Given the description of an element on the screen output the (x, y) to click on. 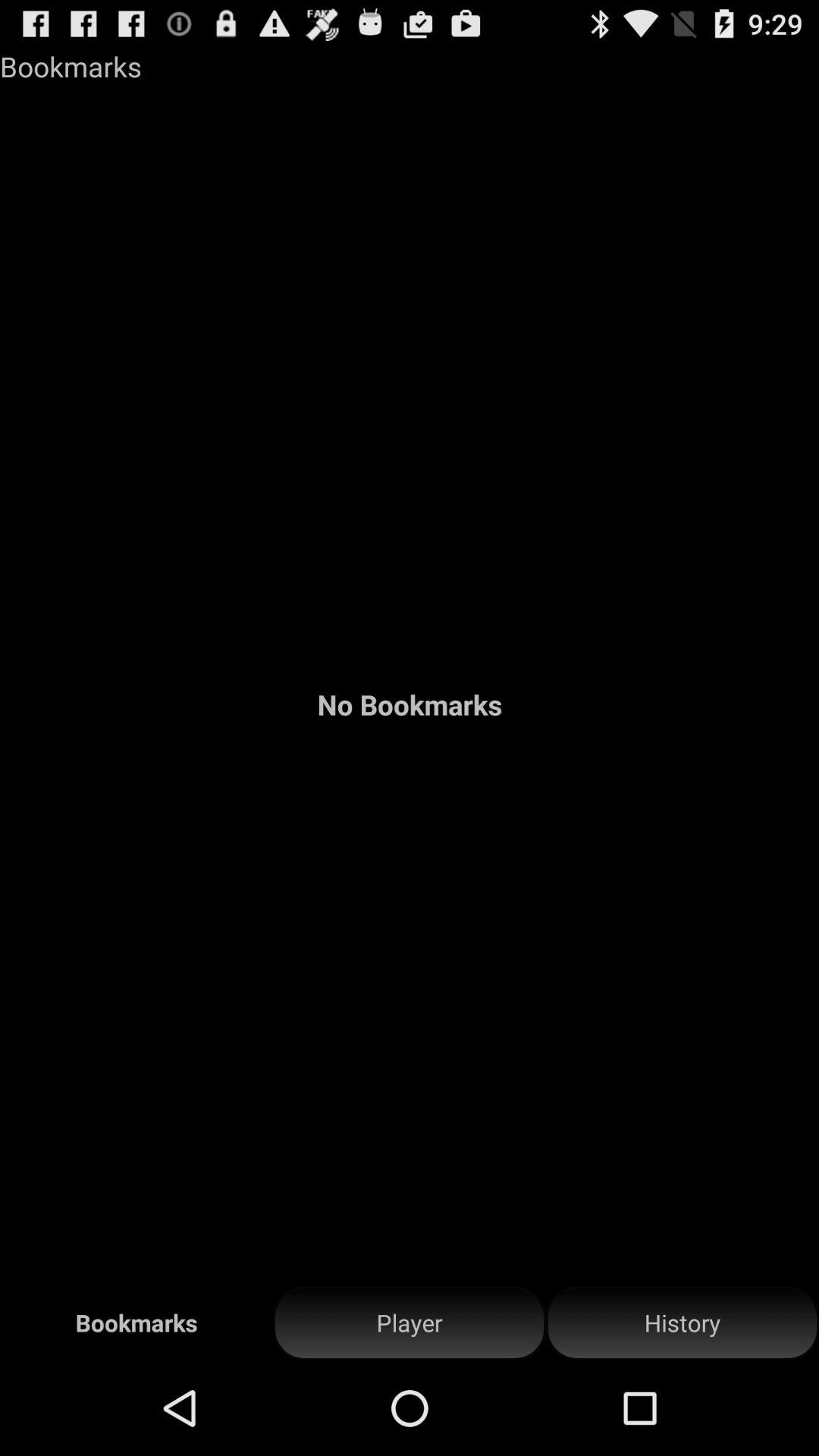
turn off button next to the player (682, 1323)
